Given the description of an element on the screen output the (x, y) to click on. 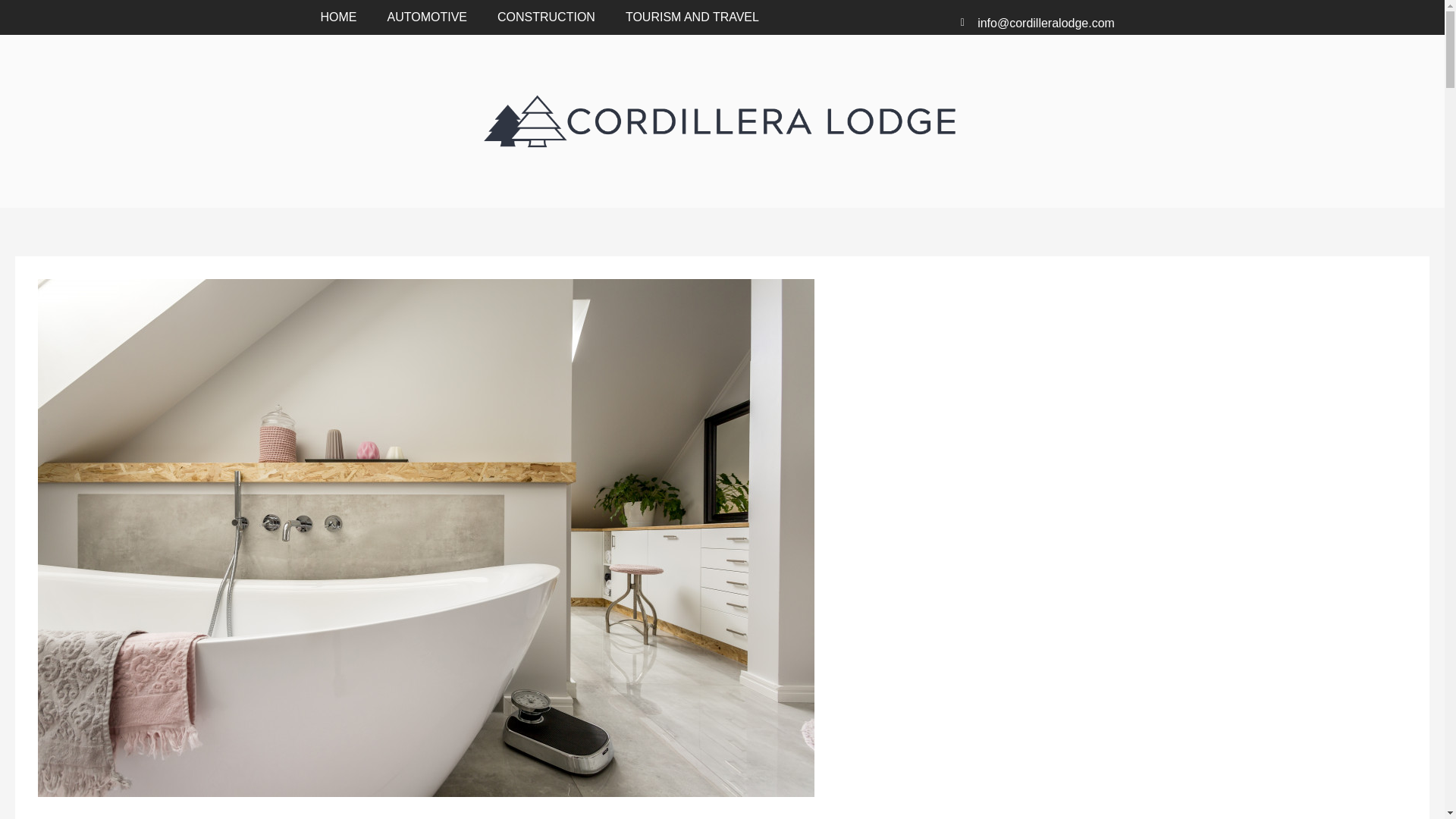
AUTOMOTIVE (426, 17)
TOURISM AND TRAVEL (692, 17)
HOME (337, 17)
CONSTRUCTION (545, 17)
